Given the description of an element on the screen output the (x, y) to click on. 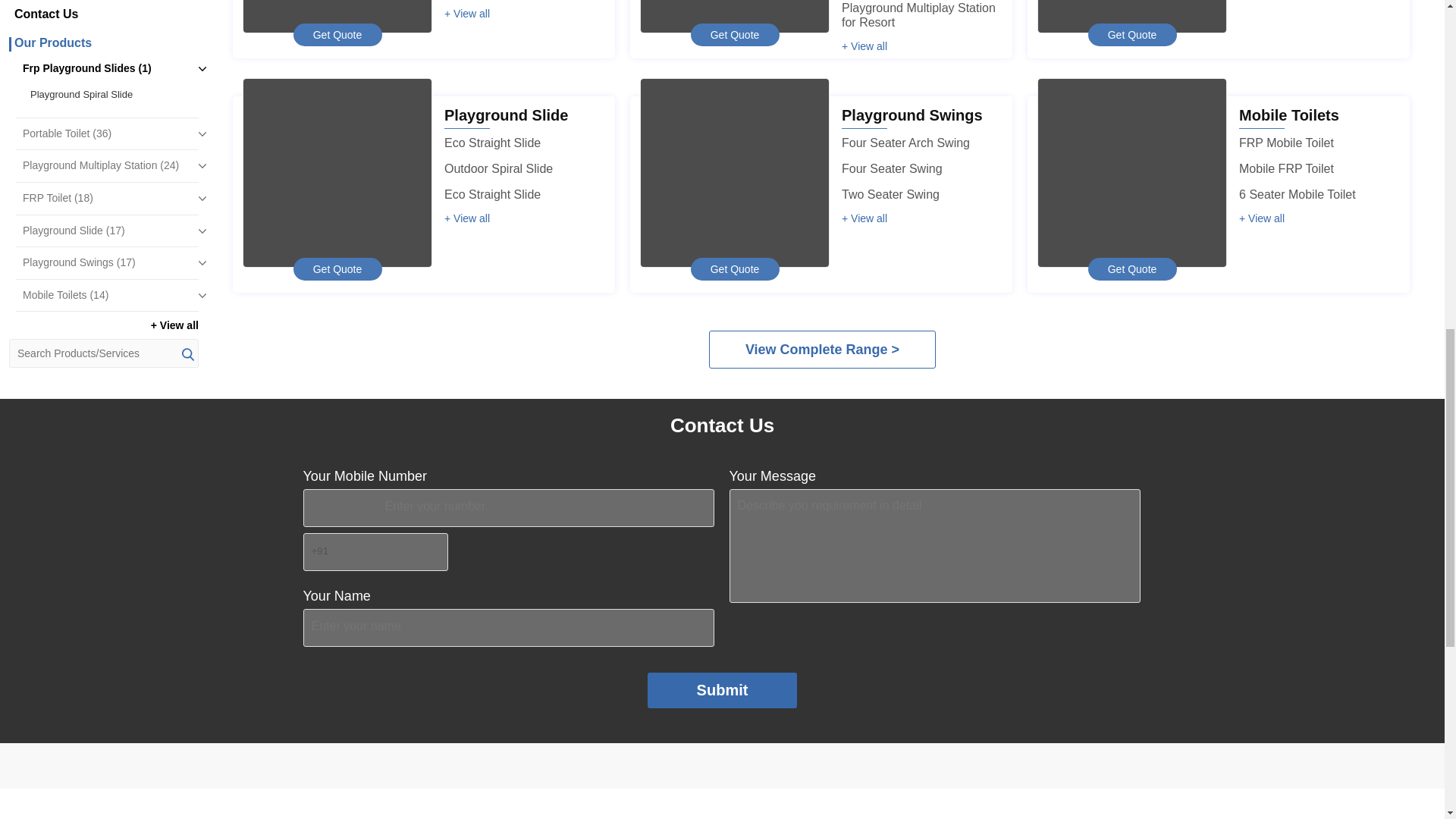
Submit (722, 690)
